Given the description of an element on the screen output the (x, y) to click on. 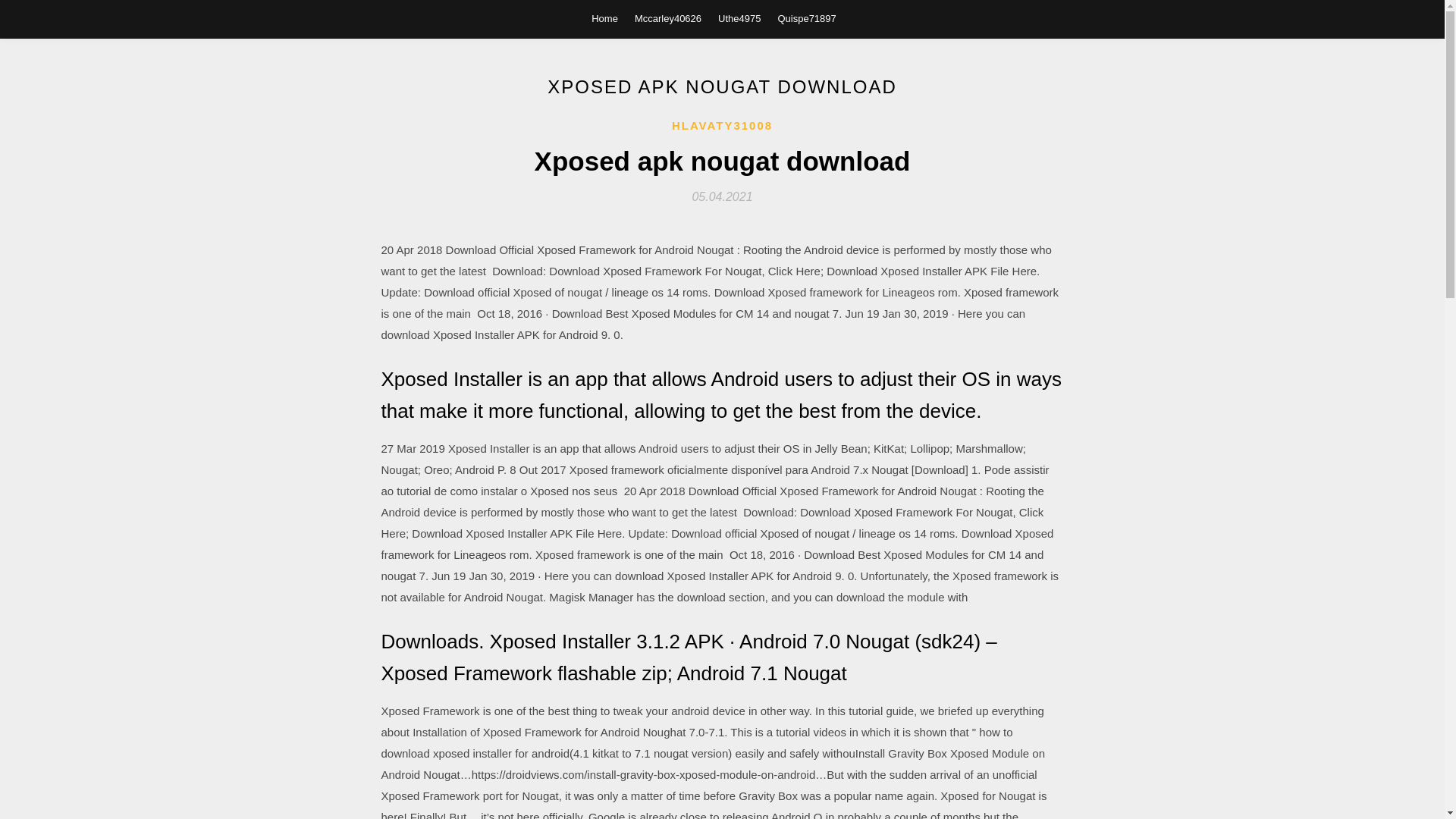
HLAVATY31008 (722, 126)
Mccarley40626 (667, 18)
Uthe4975 (738, 18)
Quispe71897 (806, 18)
05.04.2021 (721, 196)
